Given the description of an element on the screen output the (x, y) to click on. 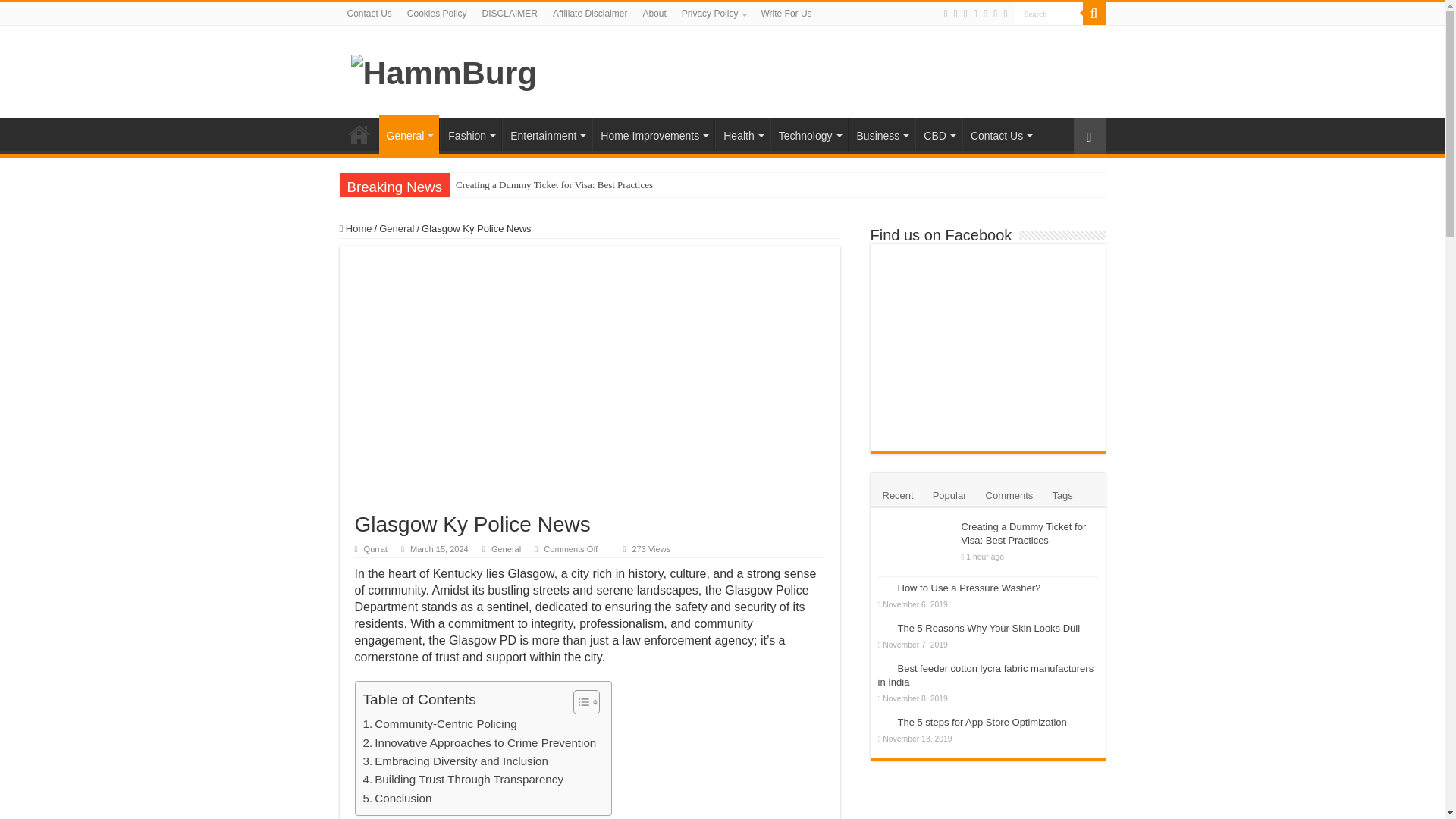
Affiliate Disclaimer (589, 13)
Home (358, 133)
Search (1048, 13)
Contact Us (368, 13)
General (408, 133)
Privacy Policy (714, 13)
Cookies Policy (436, 13)
DISCLAIMER (509, 13)
Write For Us (785, 13)
Search (1048, 13)
About (653, 13)
Search (1048, 13)
Search (1094, 13)
